Given the description of an element on the screen output the (x, y) to click on. 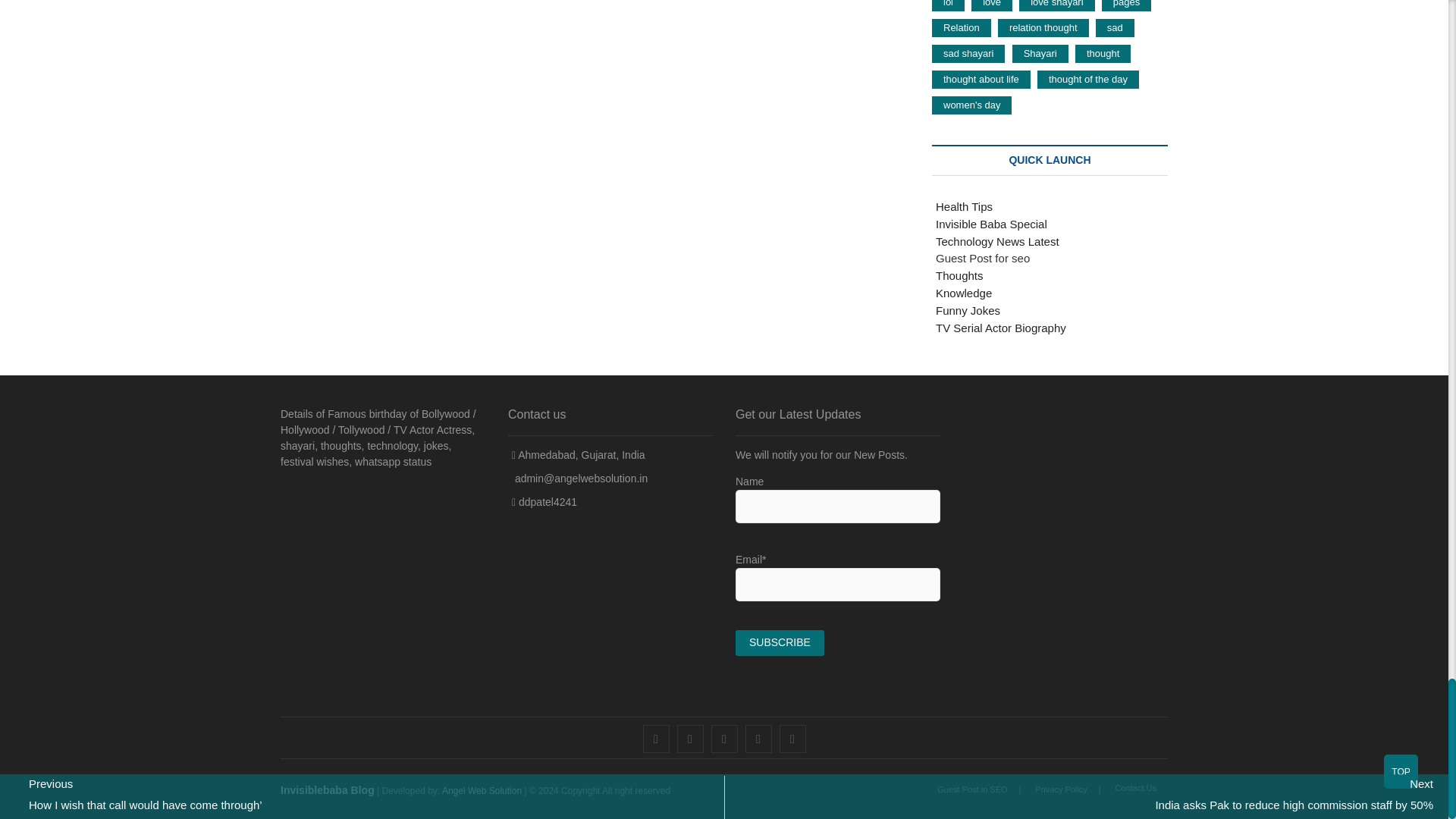
Live chat (544, 501)
Subscribe (779, 642)
Our Address (578, 455)
Mail Us (579, 478)
Invisiblebaba Blog (327, 789)
Angel Web Solution (481, 790)
